Given the description of an element on the screen output the (x, y) to click on. 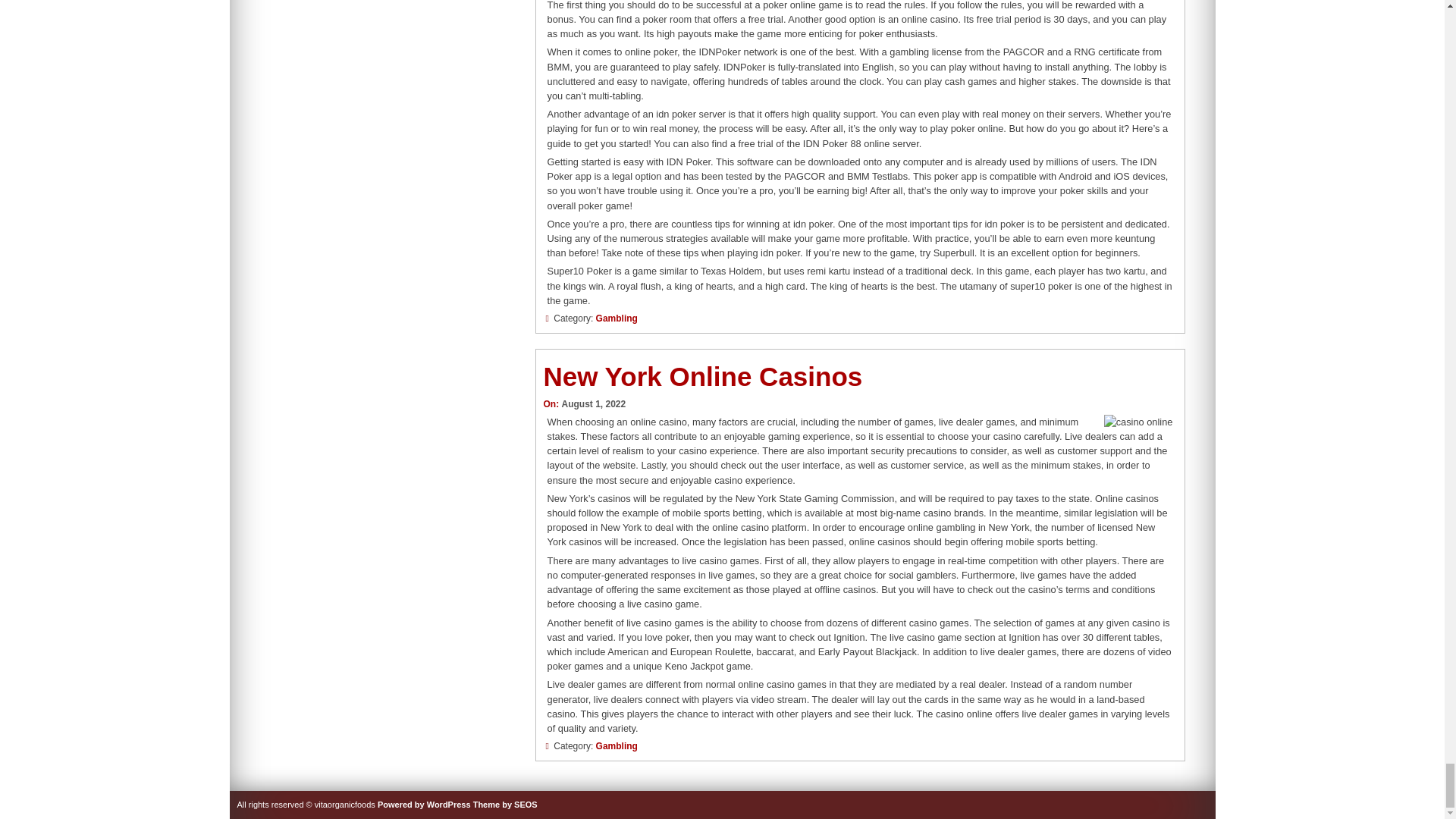
Seos free wordpress themes (505, 804)
